Given the description of an element on the screen output the (x, y) to click on. 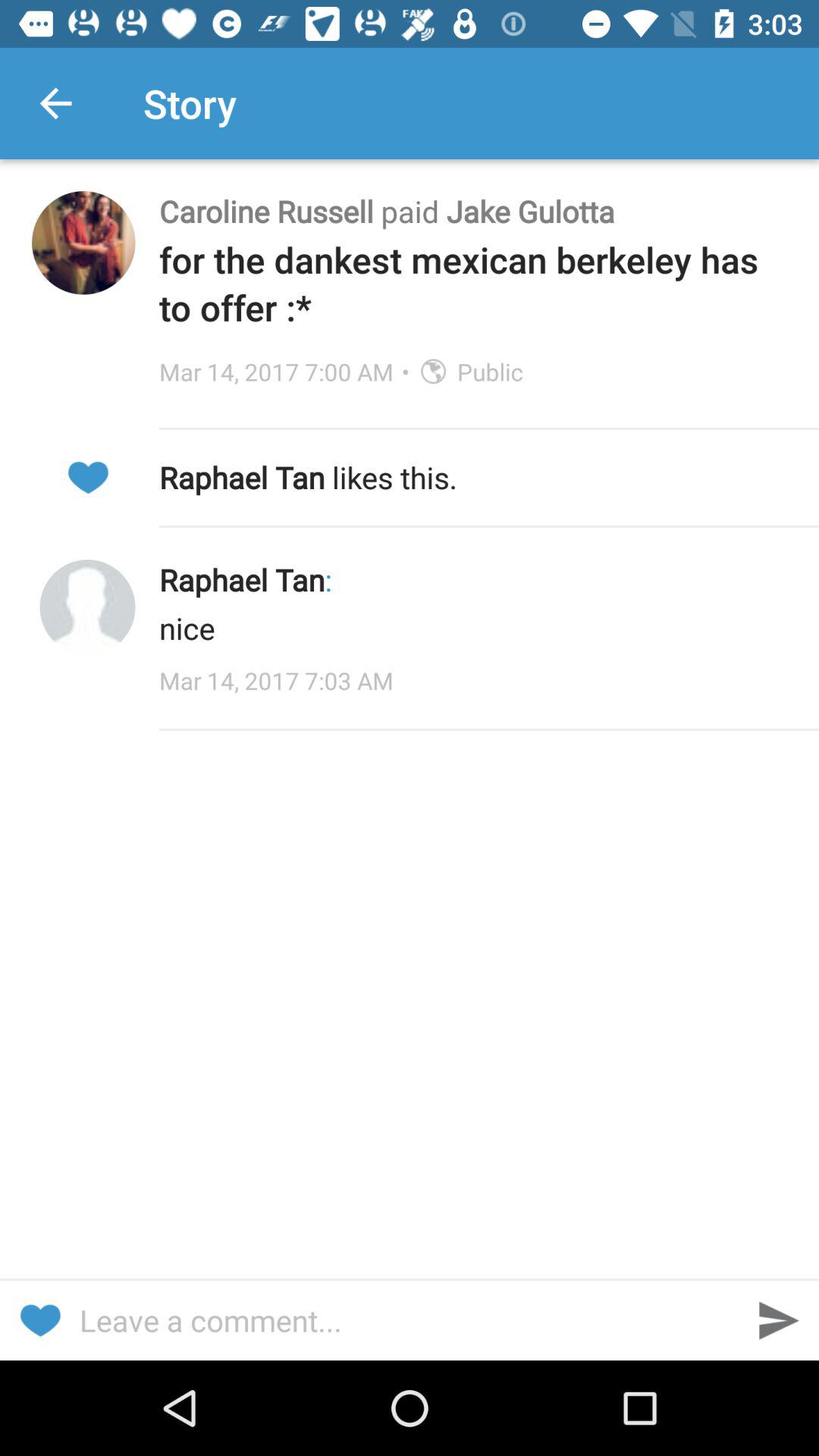
select the icon to the left of raphael tan:  icon (87, 607)
